Given the description of an element on the screen output the (x, y) to click on. 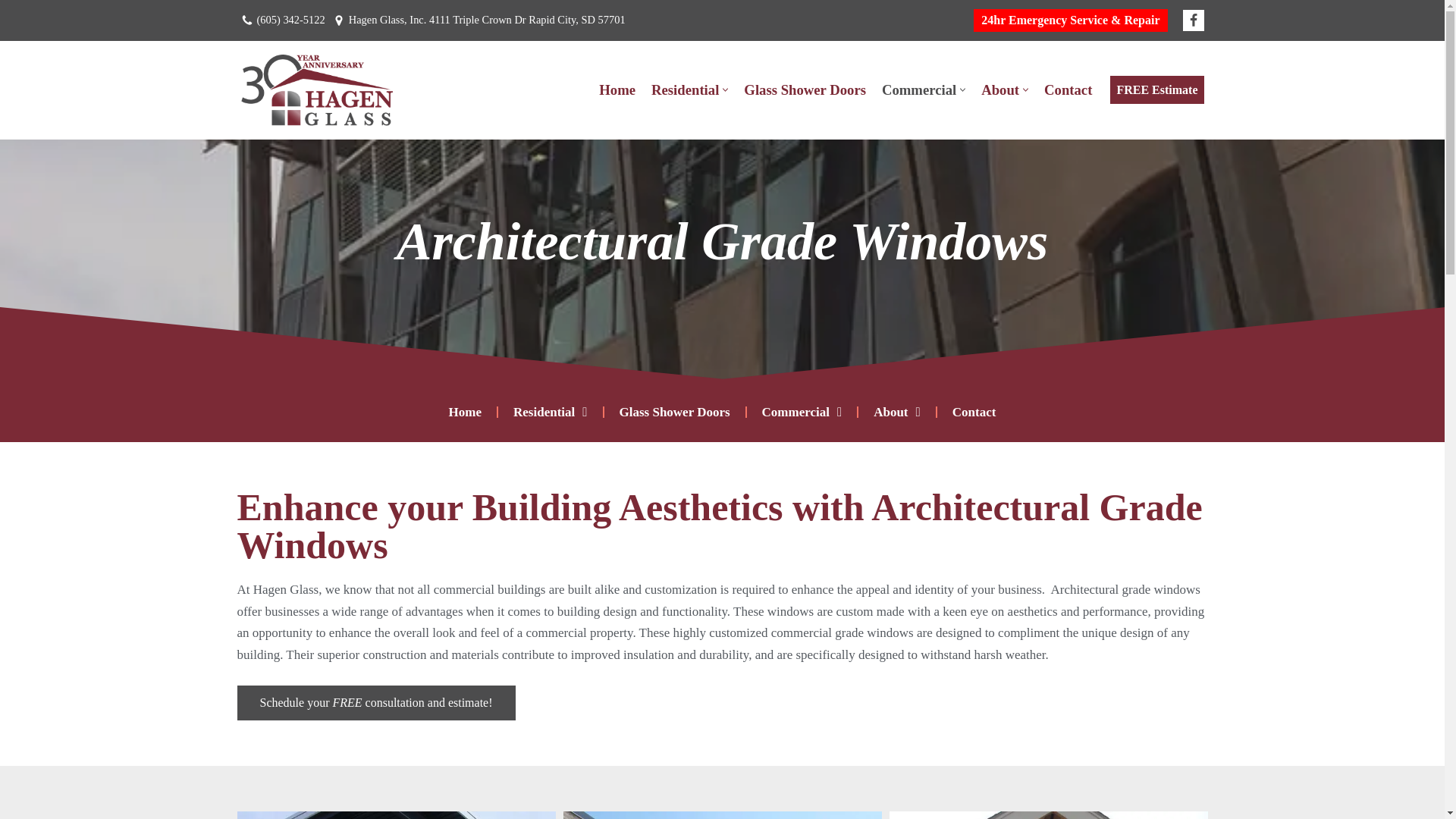
Facebook (1193, 20)
FREE Estimate (1156, 90)
Skip to content (11, 31)
Home (616, 89)
Residential (684, 89)
Commercial (919, 89)
Contact (1067, 89)
Glass Shower Doors (805, 89)
About (1000, 89)
